Given the description of an element on the screen output the (x, y) to click on. 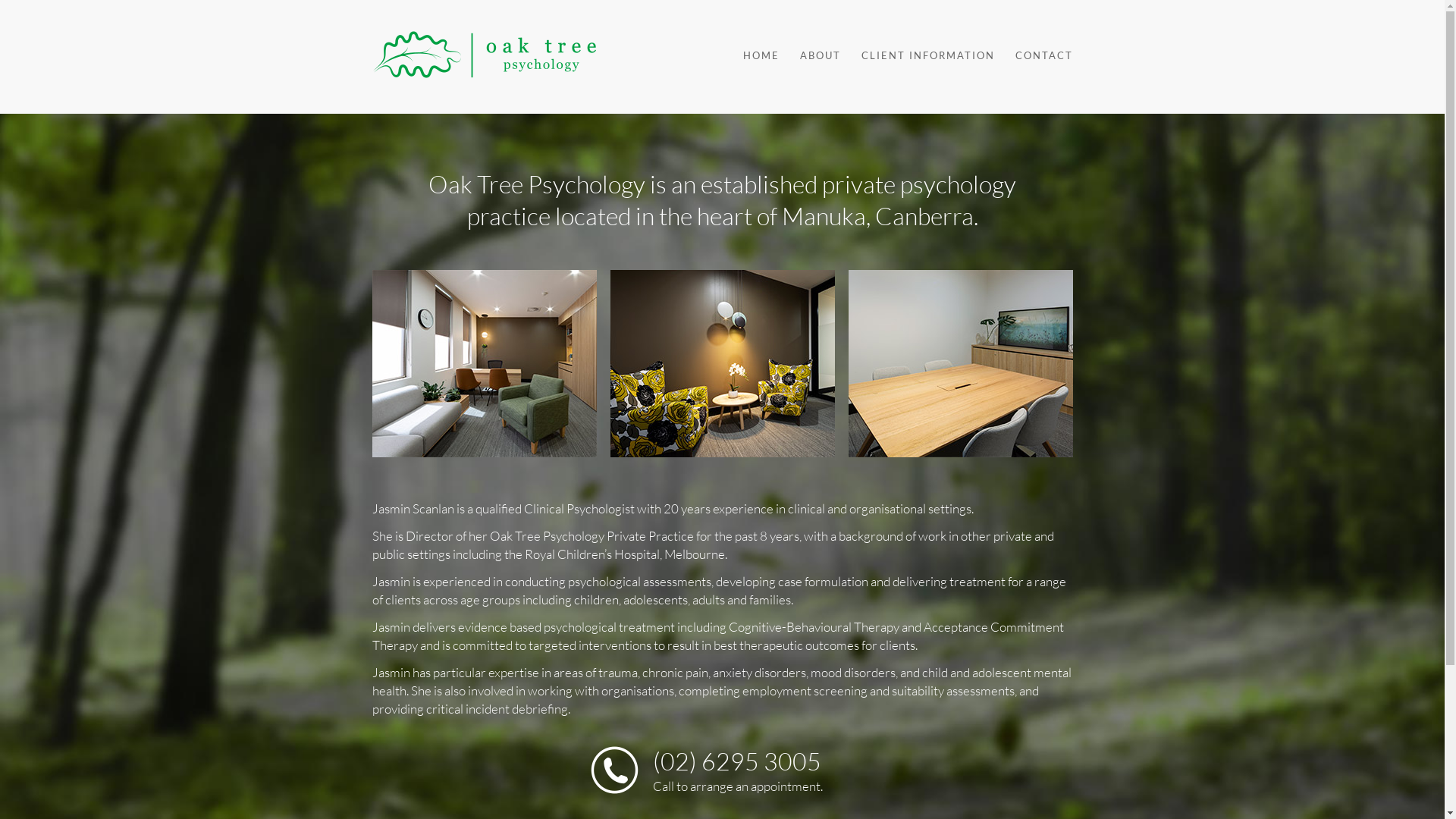
CLIENT INFORMATION Element type: text (918, 55)
HOME Element type: text (751, 55)
ABOUT Element type: text (810, 55)
CONTACT Element type: text (1034, 55)
